Given the description of an element on the screen output the (x, y) to click on. 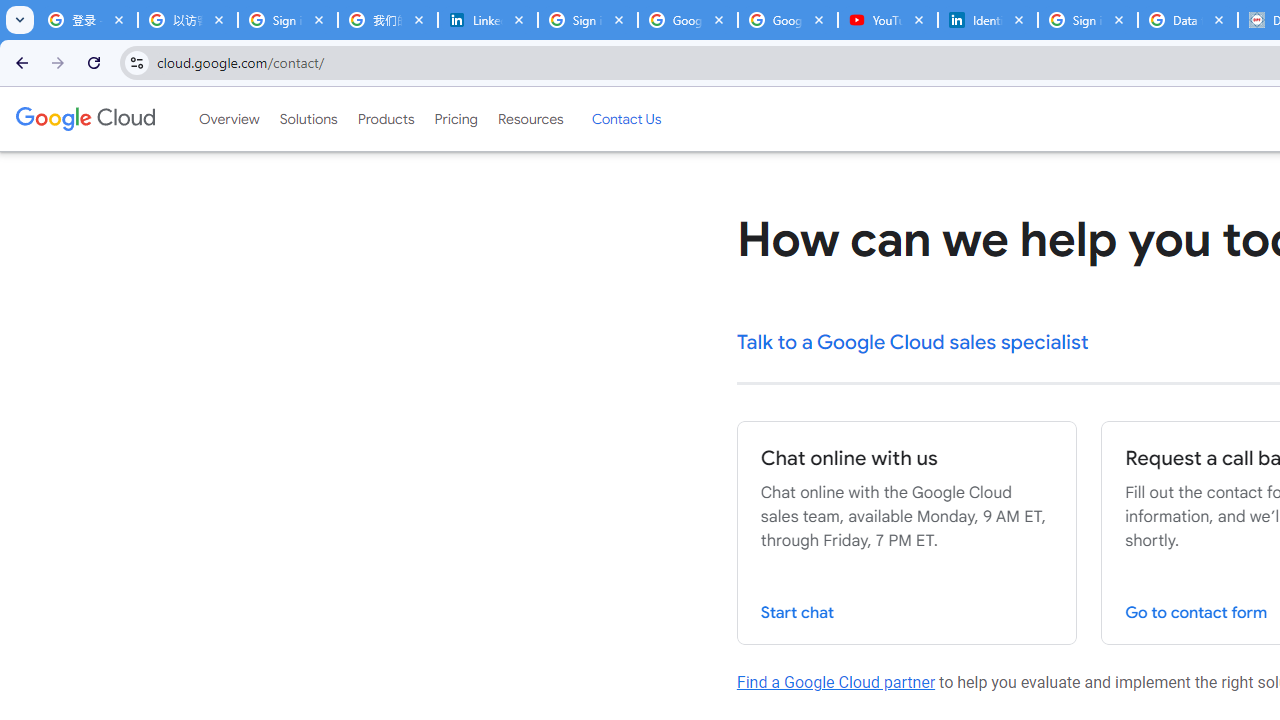
LinkedIn Privacy Policy (487, 20)
Sign in - Google Accounts (1087, 20)
Find a Google Cloud partner (835, 682)
